Given the description of an element on the screen output the (x, y) to click on. 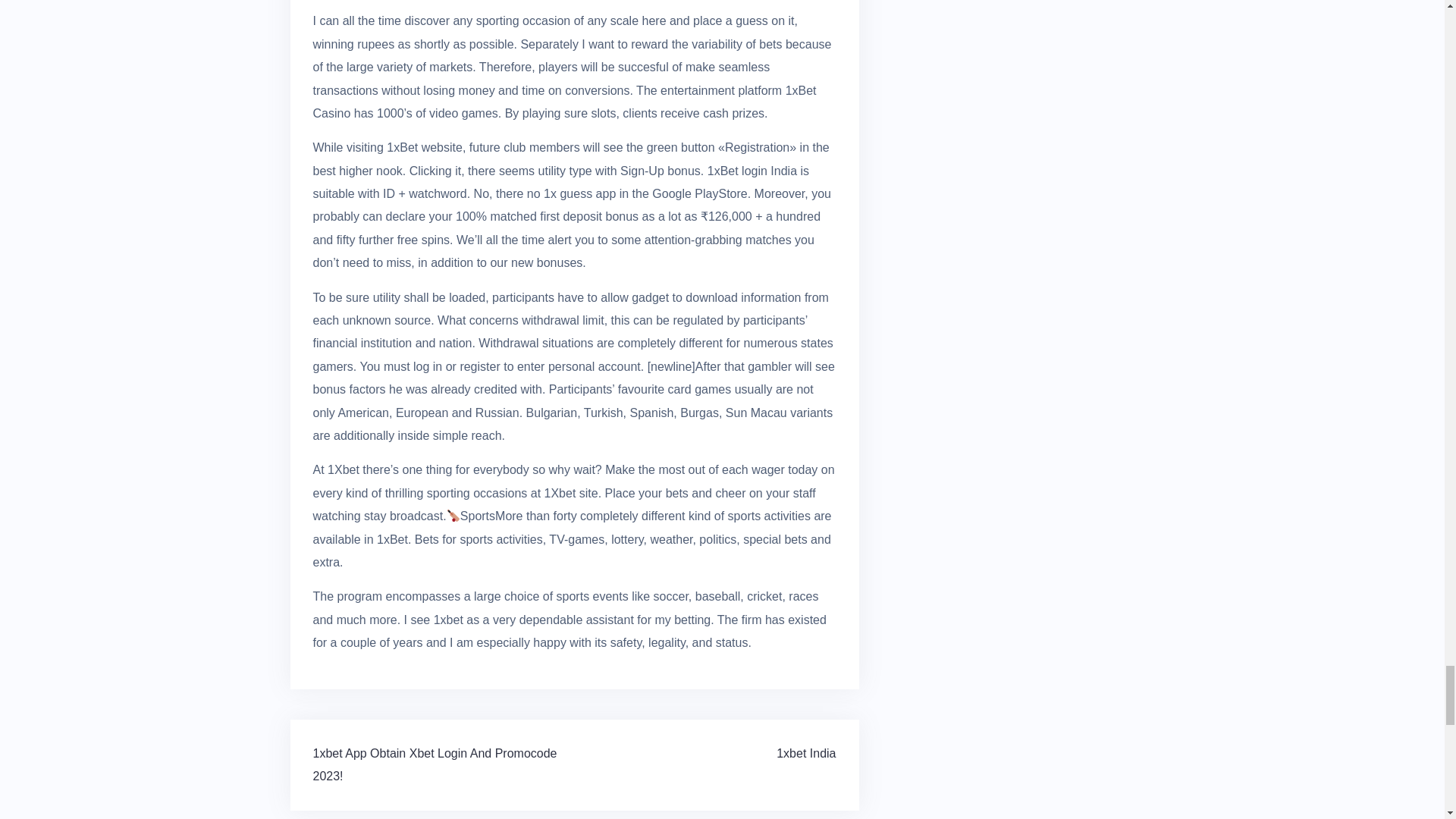
1xbet India (805, 752)
1xbet App Obtain Xbet Login And Promocode 2023! (434, 764)
